Given the description of an element on the screen output the (x, y) to click on. 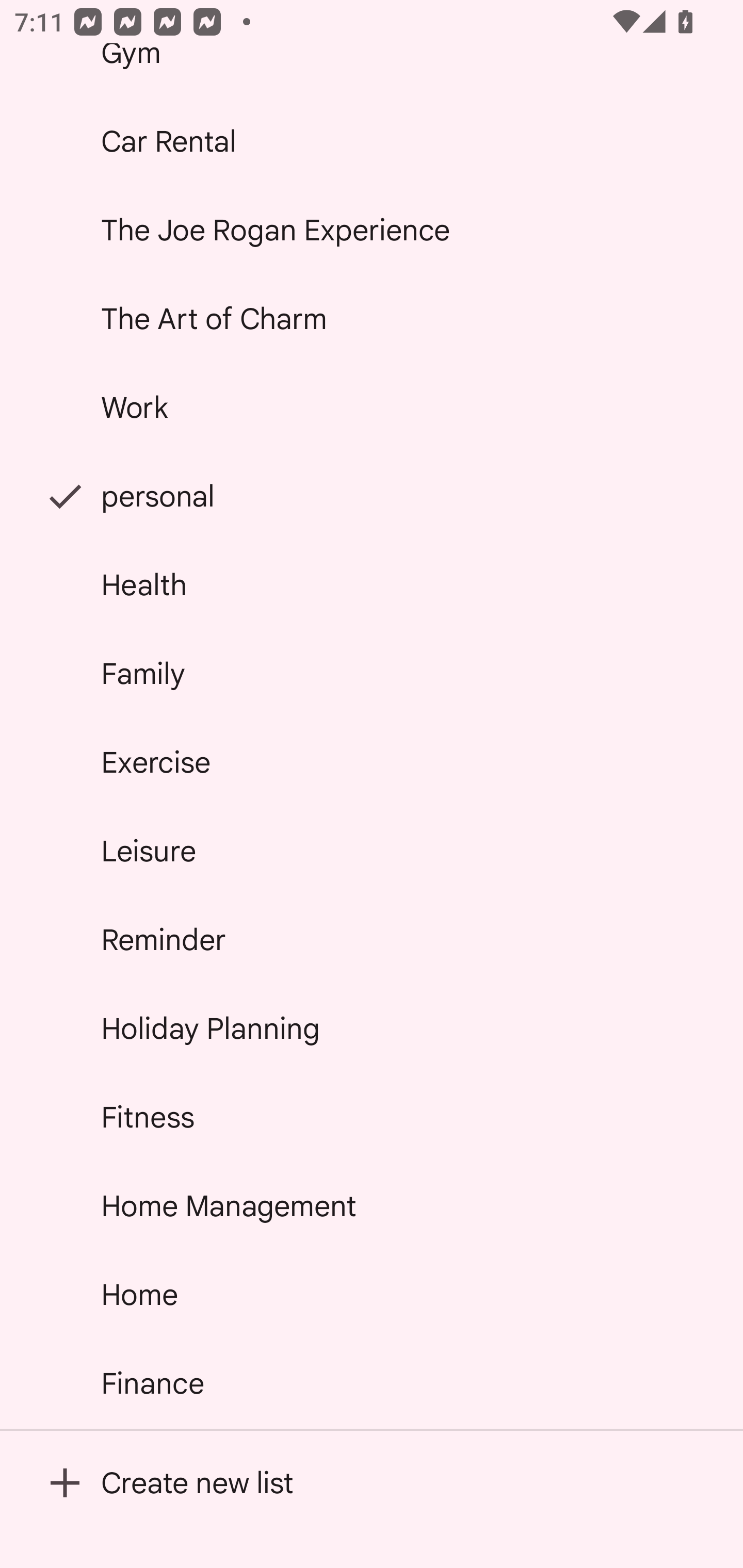
Car Rental (371, 141)
The Joe Rogan Experience (371, 229)
The Art of Charm (371, 318)
Work (371, 407)
personal (371, 496)
Health (371, 584)
Family (371, 673)
Exercise (371, 762)
Leisure (371, 850)
Reminder (371, 939)
Holiday Planning (371, 1028)
Fitness (371, 1117)
Home Management (371, 1205)
Home (371, 1294)
Finance (371, 1383)
Create new list (371, 1482)
